Given the description of an element on the screen output the (x, y) to click on. 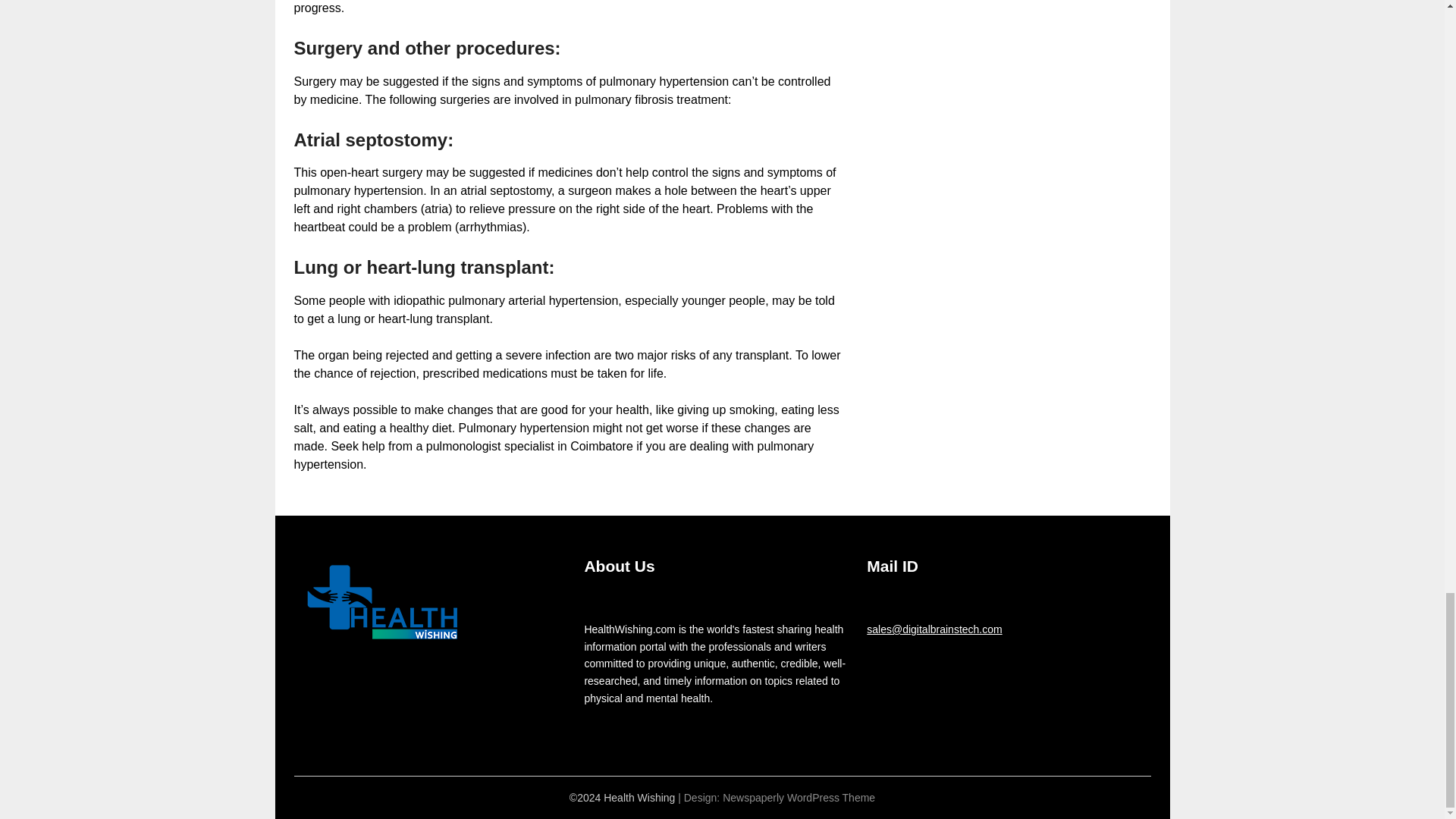
Newspaperly WordPress Theme (798, 797)
